Given the description of an element on the screen output the (x, y) to click on. 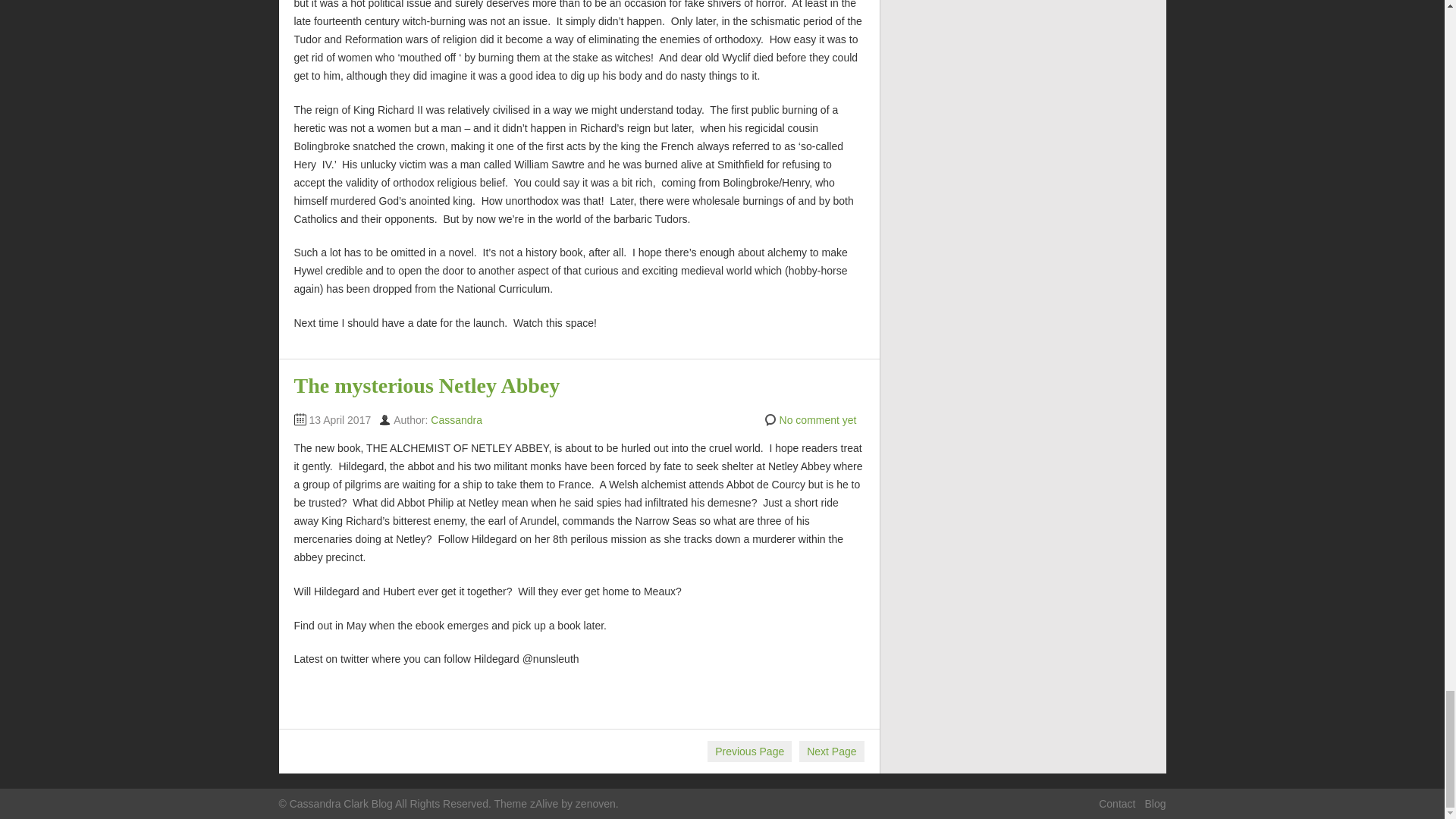
No comment yet (817, 419)
Previous Page (749, 751)
Cassandra (455, 419)
The mysterious Netley Abbey (427, 385)
